Given the description of an element on the screen output the (x, y) to click on. 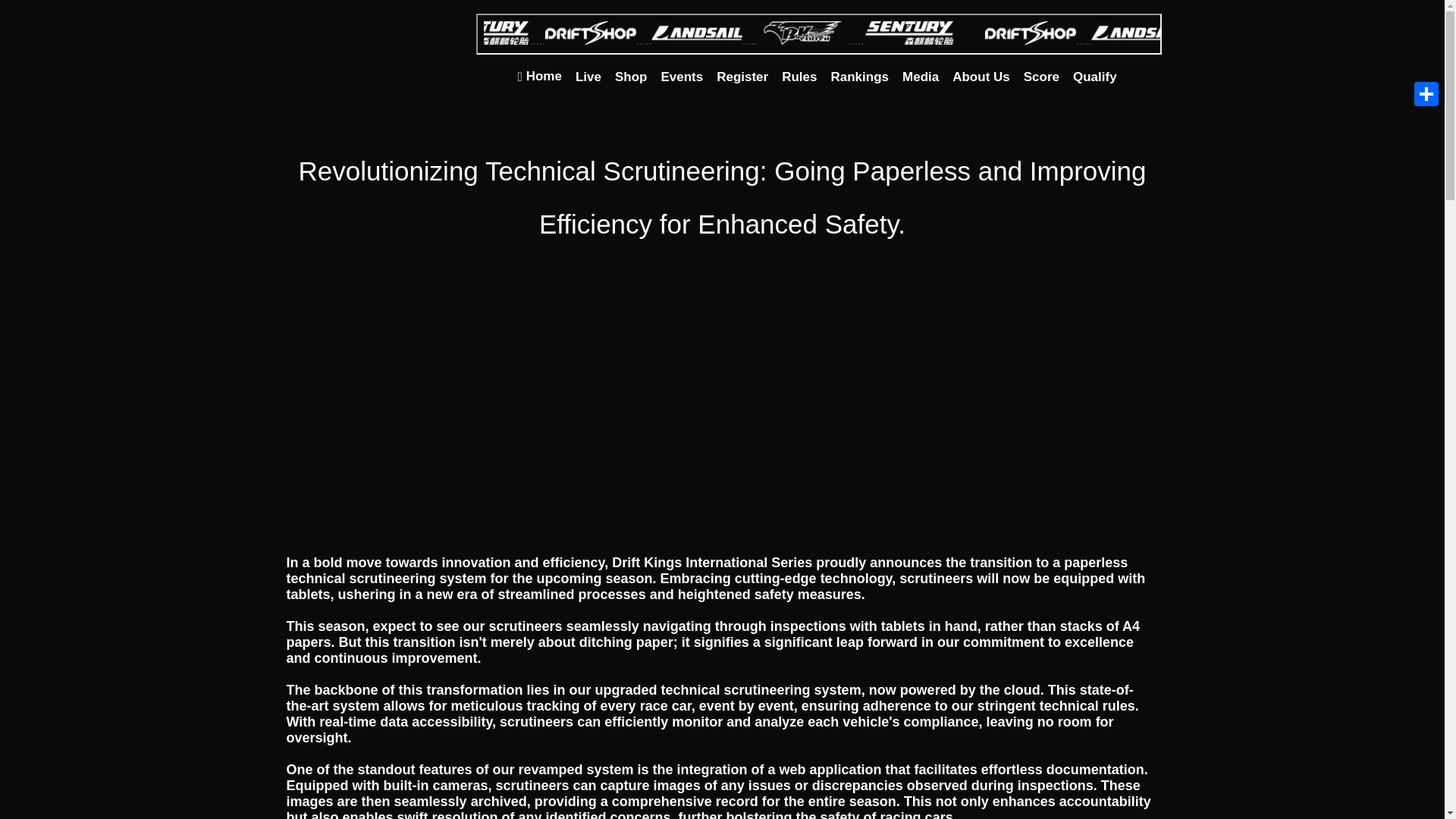
Register (742, 77)
Score (1040, 77)
Events (681, 77)
Rankings (859, 77)
Shop (631, 77)
Rules (799, 77)
Live (588, 77)
Home (539, 76)
Qualify (1094, 77)
Media (919, 77)
weblogo2 (373, 59)
About Us (980, 77)
